Given the description of an element on the screen output the (x, y) to click on. 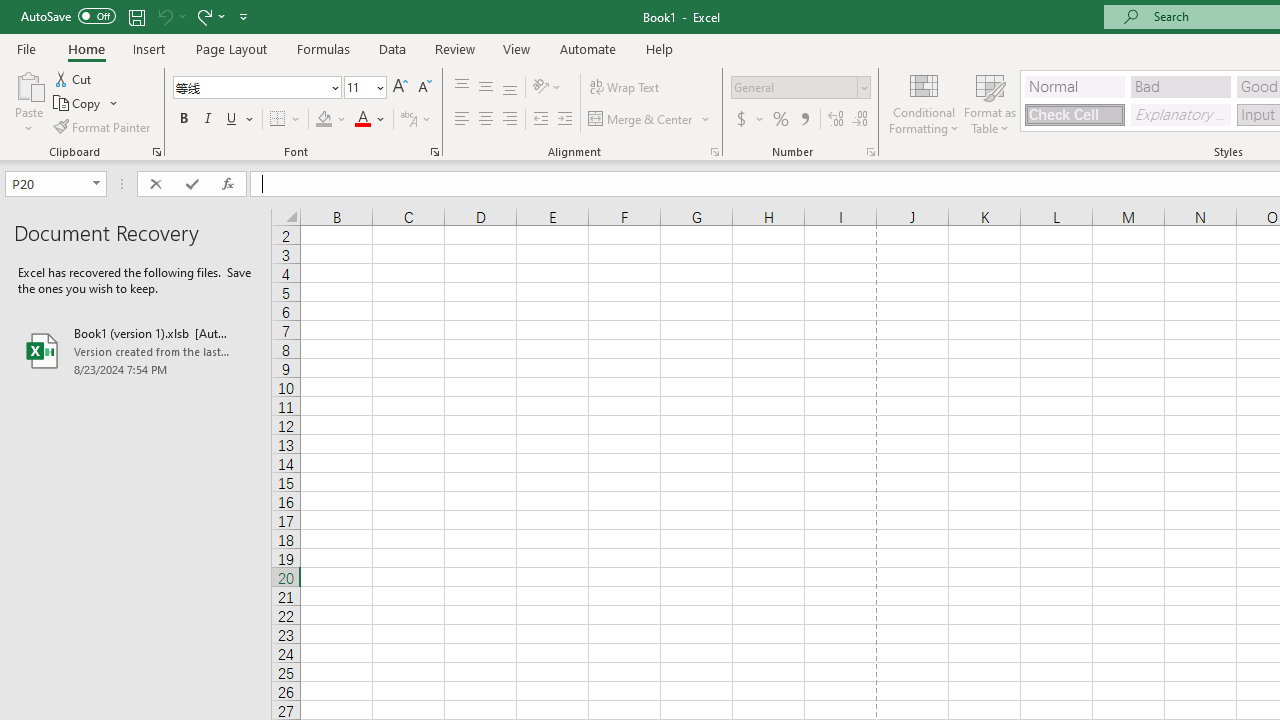
Show Phonetic Field (416, 119)
Font (250, 87)
Comma Style (804, 119)
Increase Font Size (399, 87)
Underline (232, 119)
Bad (1180, 86)
Top Align (461, 87)
Font Size (358, 87)
Font Color (370, 119)
Explanatory Text (1180, 114)
Underline (239, 119)
Number Format (794, 87)
